Given the description of an element on the screen output the (x, y) to click on. 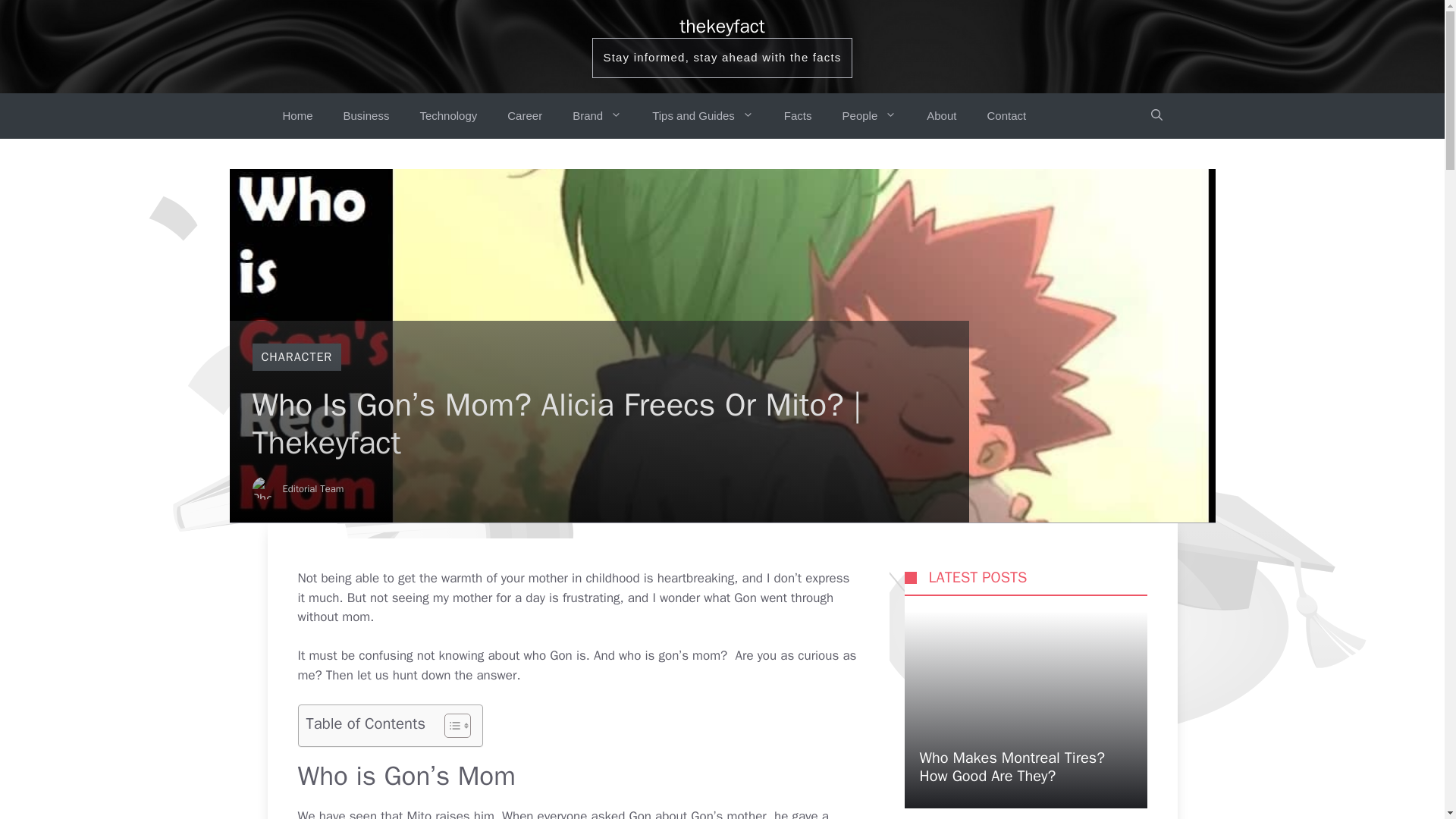
About (941, 115)
Technology (448, 115)
CHARACTER (295, 355)
Brand (597, 115)
Contact (1006, 115)
Tips and Guides (702, 115)
Career (524, 115)
People (869, 115)
Home (296, 115)
Facts (797, 115)
Business (366, 115)
thekeyfact (721, 25)
